Given the description of an element on the screen output the (x, y) to click on. 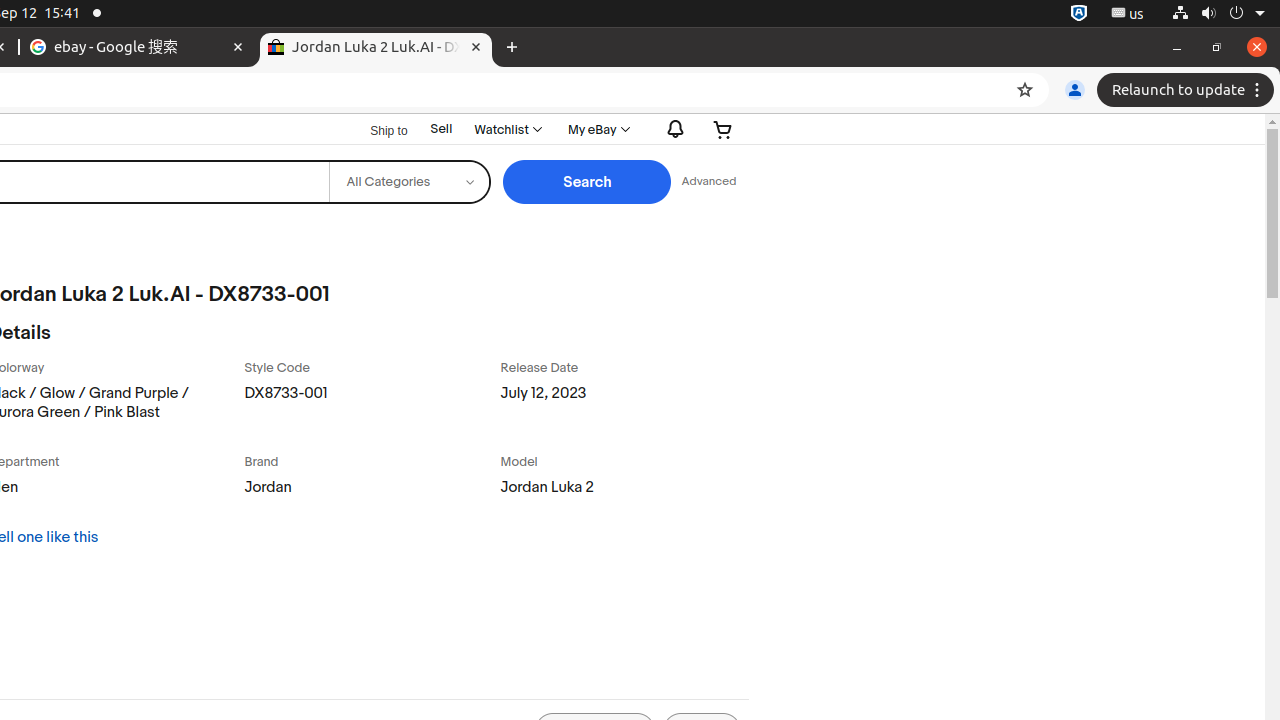
:1.21/StatusNotifierItem Element type: menu (1127, 13)
